Given the description of an element on the screen output the (x, y) to click on. 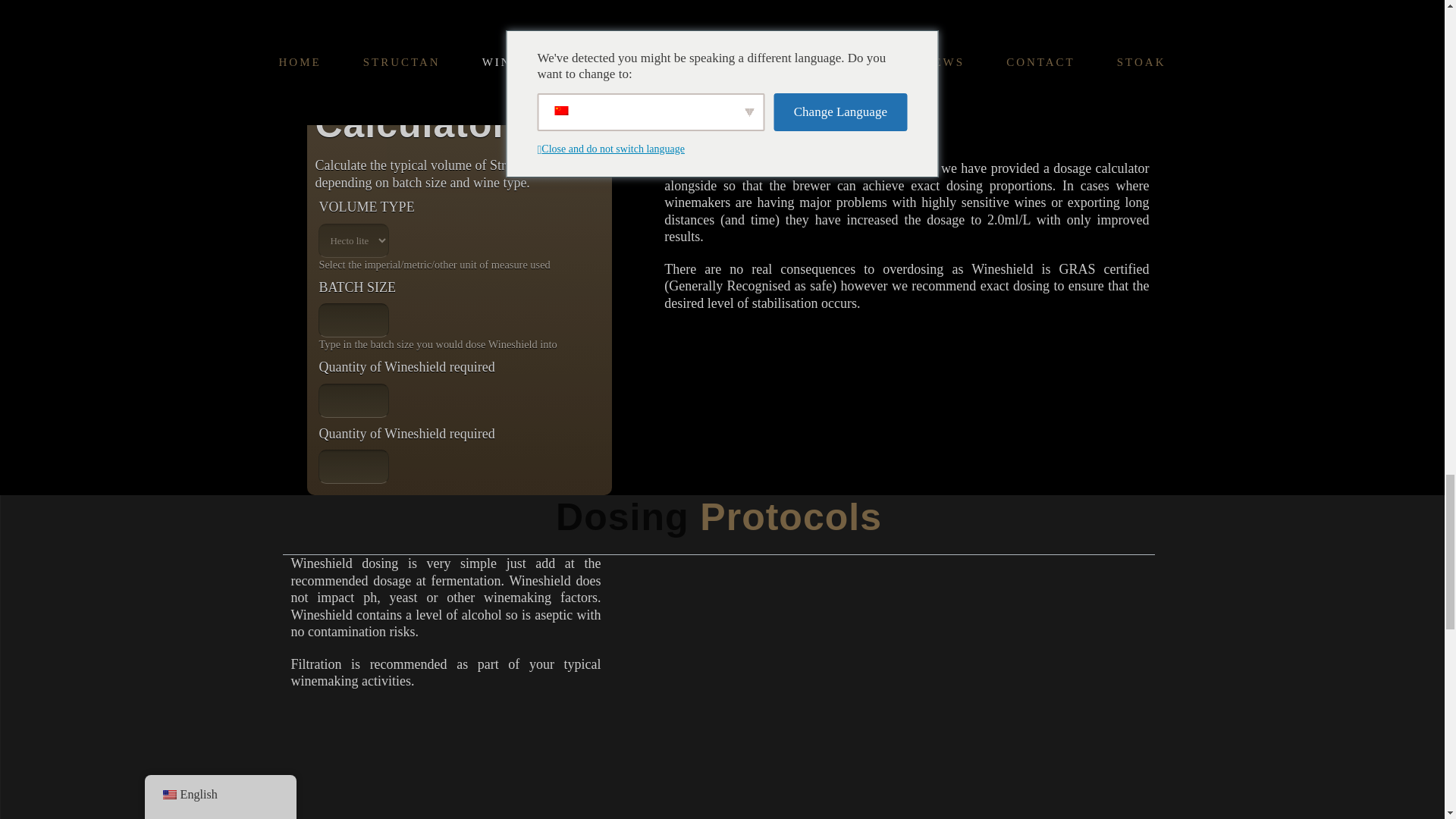
Wineshield-Wine-dosing-process-white-background (895, 690)
